Given the description of an element on the screen output the (x, y) to click on. 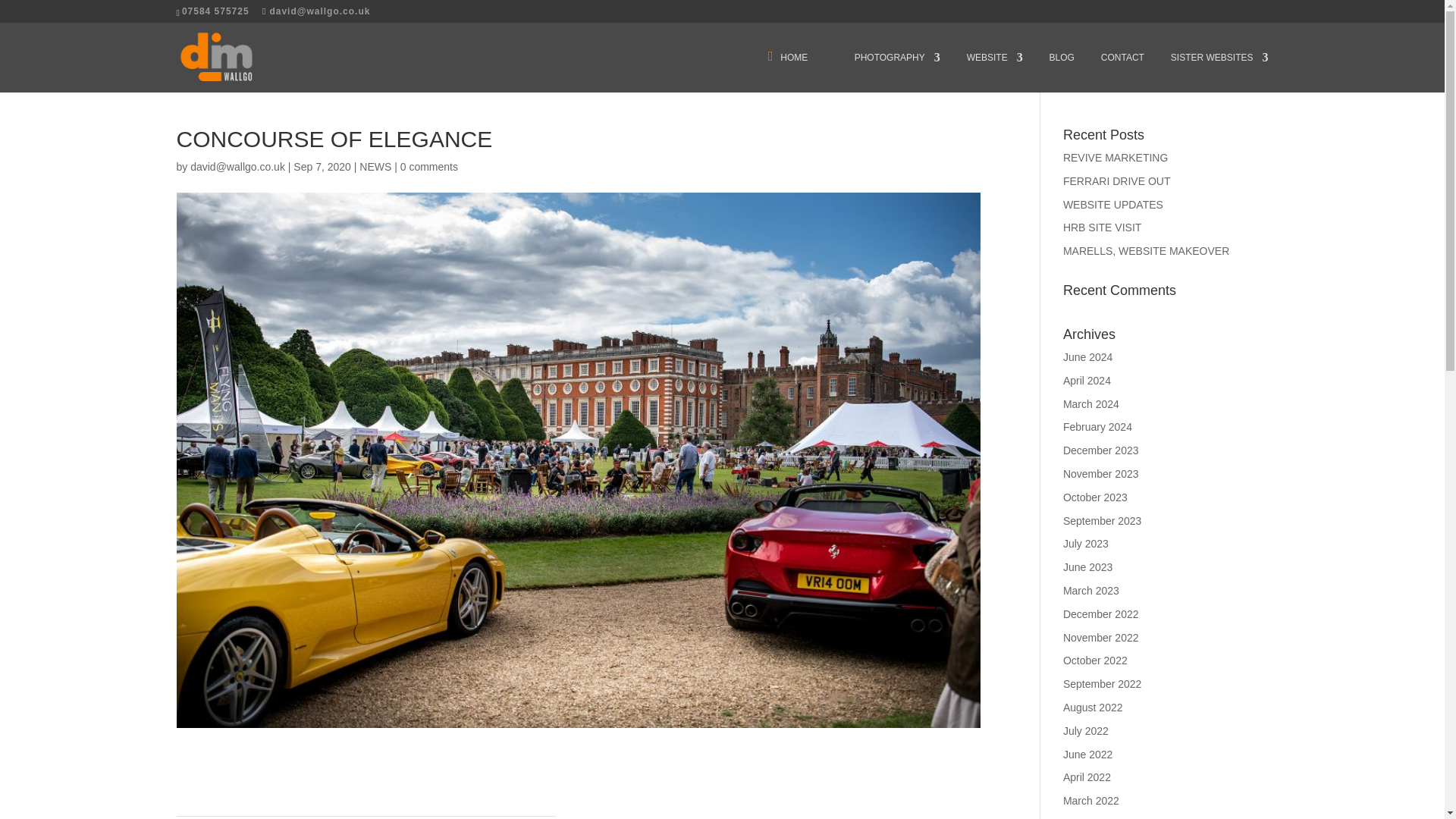
HOME (798, 72)
PHOTOGRAPHY (897, 72)
